Given the description of an element on the screen output the (x, y) to click on. 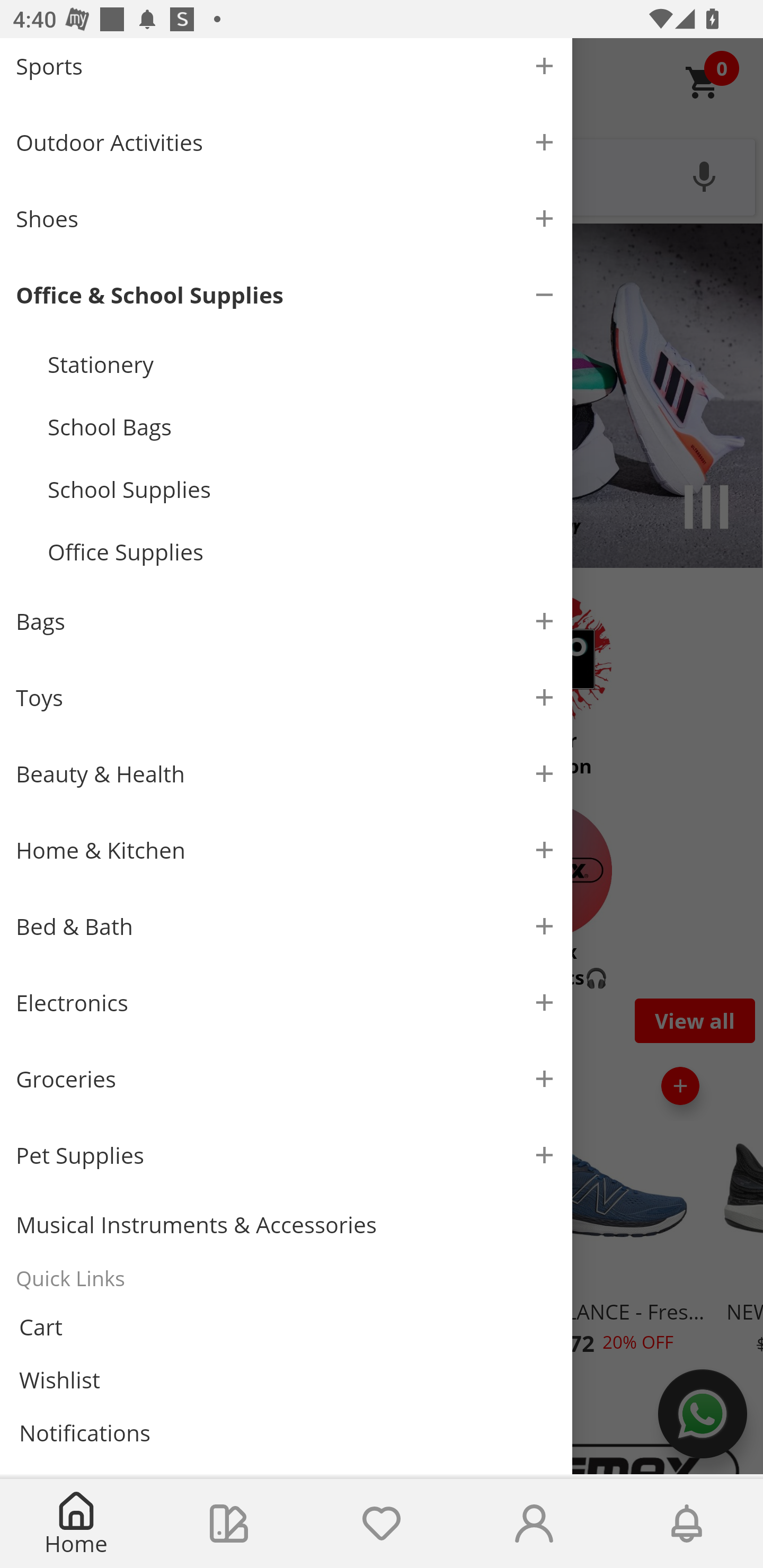
Sports (286, 71)
Outdoor Activities (286, 142)
Shoes (286, 218)
Stationery (302, 363)
School Bags (302, 426)
School Supplies (302, 488)
Office Supplies (302, 551)
Bags (286, 621)
Toys (286, 697)
Beauty & Health (286, 773)
Home & Kitchen (286, 850)
Bed & Bath (286, 926)
Electronics (286, 1002)
Groceries (286, 1078)
Pet Supplies (286, 1154)
Musical Instruments & Accessories (286, 1224)
Cart (286, 1326)
Wishlist (286, 1379)
Notifications (286, 1432)
Collections (228, 1523)
Wishlist (381, 1523)
Account (533, 1523)
Notifications (686, 1523)
